Given the description of an element on the screen output the (x, y) to click on. 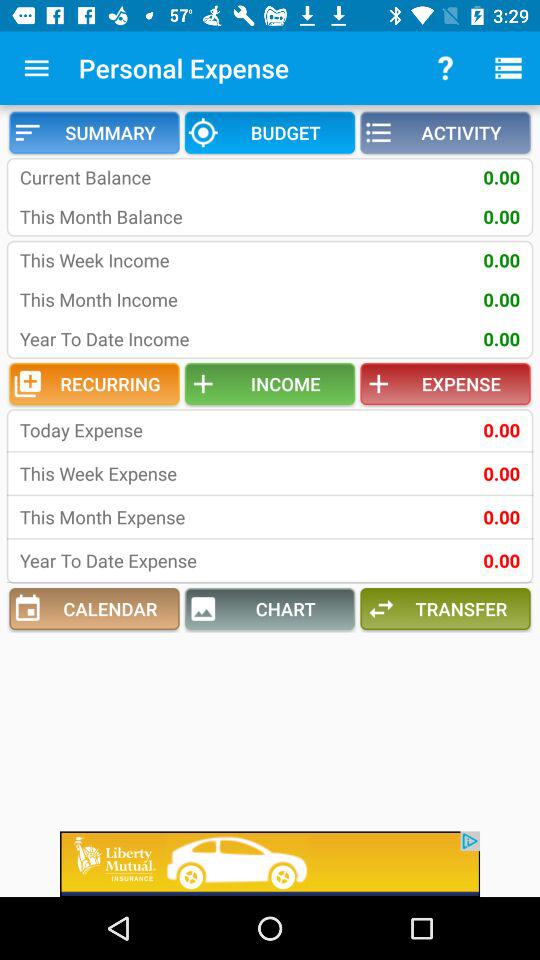
open icon to the left of personal expense item (36, 68)
